Given the description of an element on the screen output the (x, y) to click on. 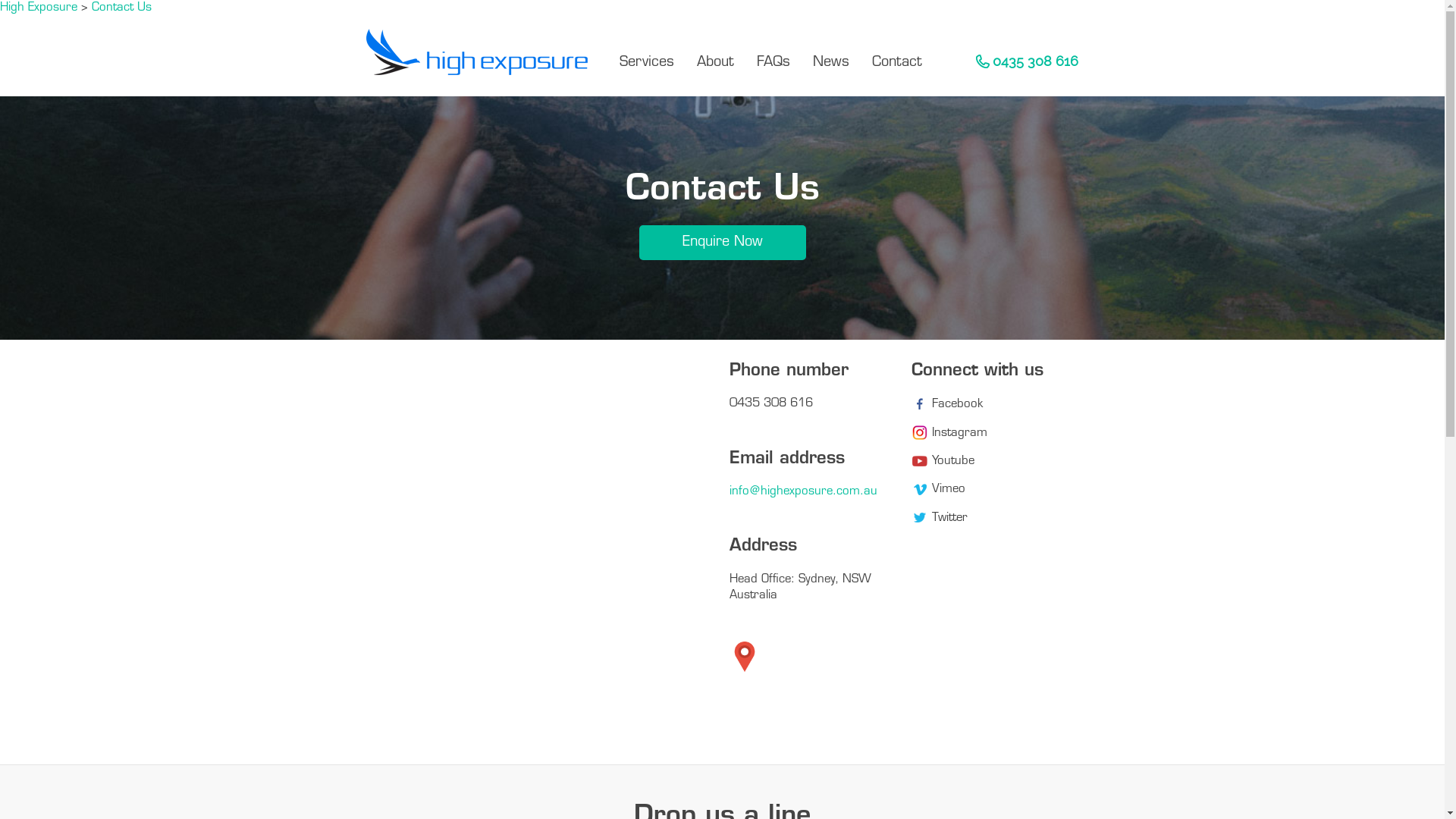
FAQs Element type: text (773, 62)
Services Element type: text (646, 62)
News Element type: text (830, 62)
Vimeo Element type: text (938, 489)
Youtube Element type: text (942, 461)
Twitter Element type: text (939, 518)
About Element type: text (715, 62)
Enquire Now Element type: text (721, 242)
Contact Element type: text (897, 62)
info@highexposure.com.au Element type: text (803, 491)
Contact Us Element type: text (121, 7)
High Exposure Element type: text (38, 7)
Facebook Element type: text (946, 404)
Instagram Element type: text (949, 433)
